Given the description of an element on the screen output the (x, y) to click on. 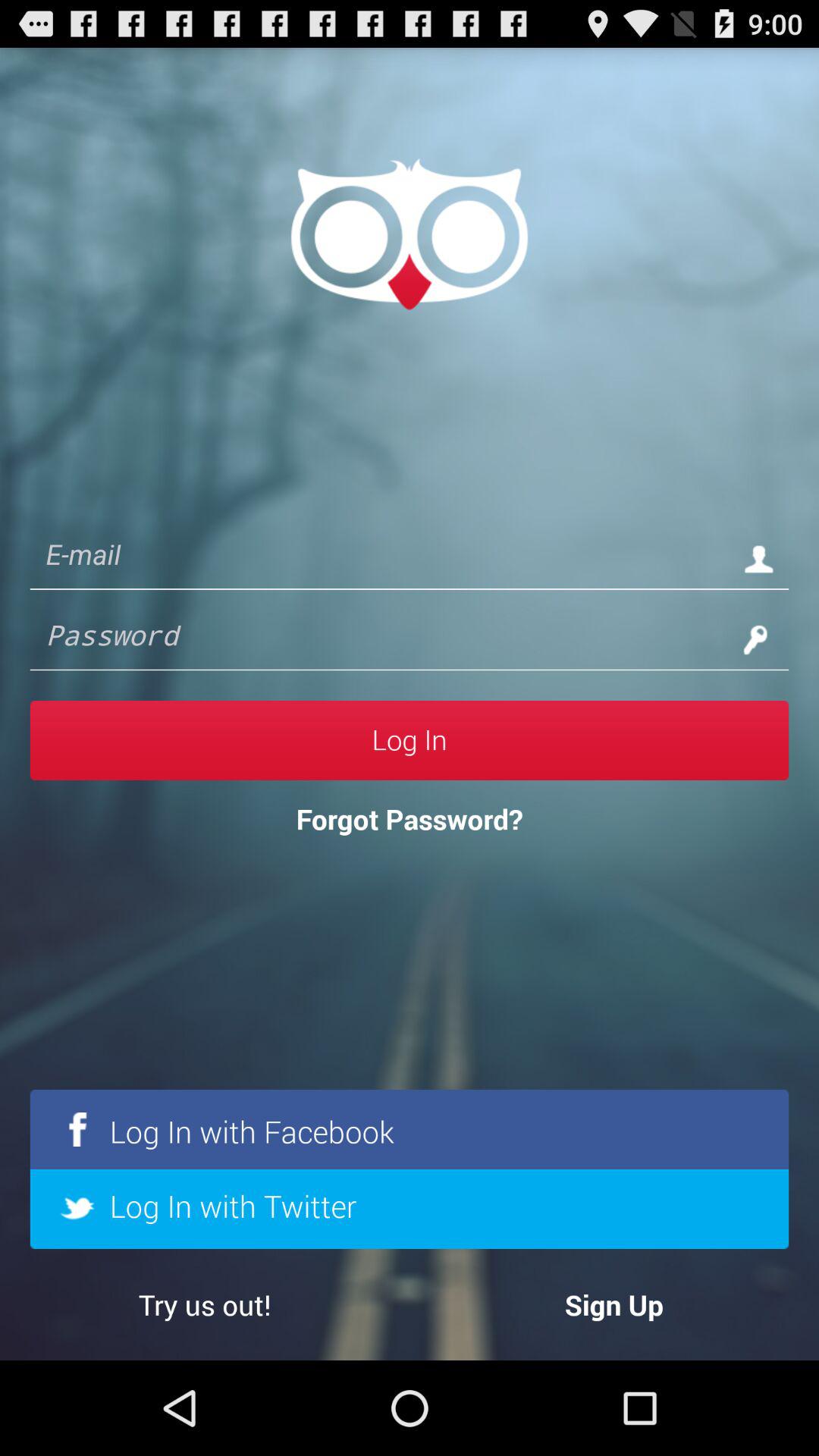
for password (379, 639)
